Given the description of an element on the screen output the (x, y) to click on. 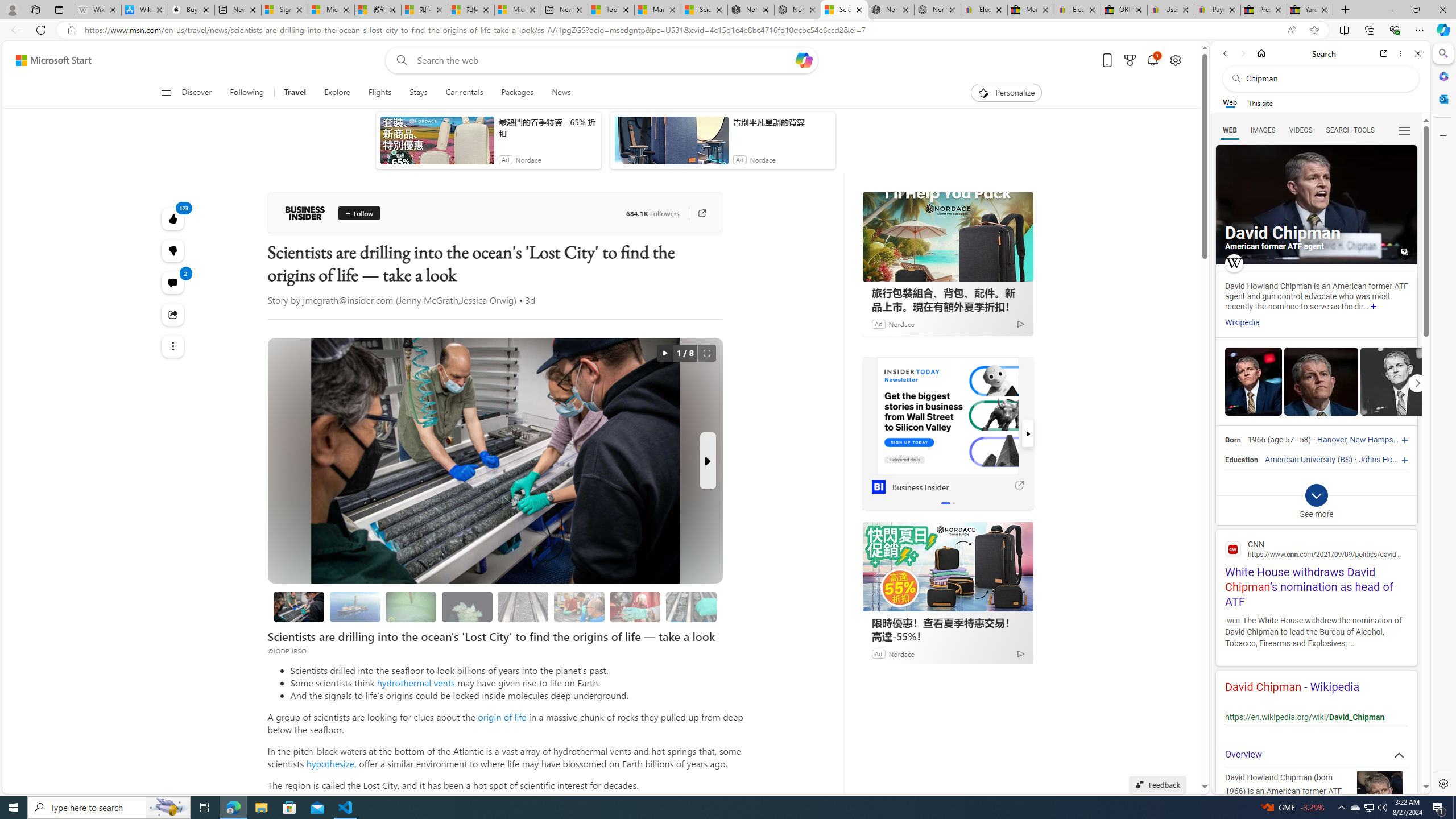
origin of life (502, 716)
Car rentals (464, 92)
Explore (336, 92)
All images (1404, 252)
Microsoft account | Account Checkup (517, 9)
